Given the description of an element on the screen output the (x, y) to click on. 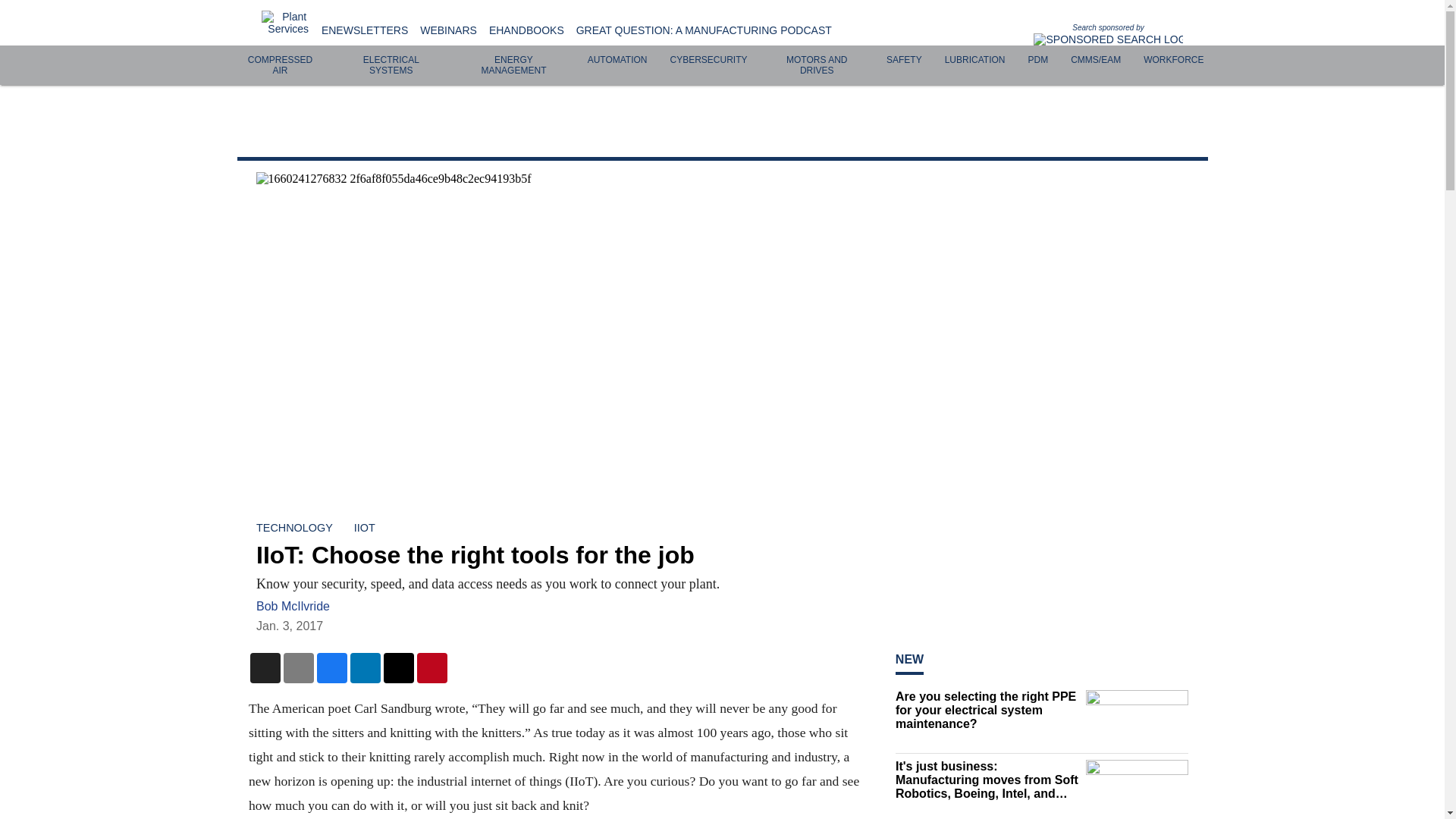
COMPRESSED AIR (280, 65)
WEBINARS (448, 30)
IIOT (363, 527)
WORKFORCE (1173, 59)
Bob McIlvride (293, 604)
AUTOMATION (617, 59)
ENERGY MANAGEMENT (513, 65)
PDM (1037, 59)
GREAT QUESTION: A MANUFACTURING PODCAST (703, 30)
